Given the description of an element on the screen output the (x, y) to click on. 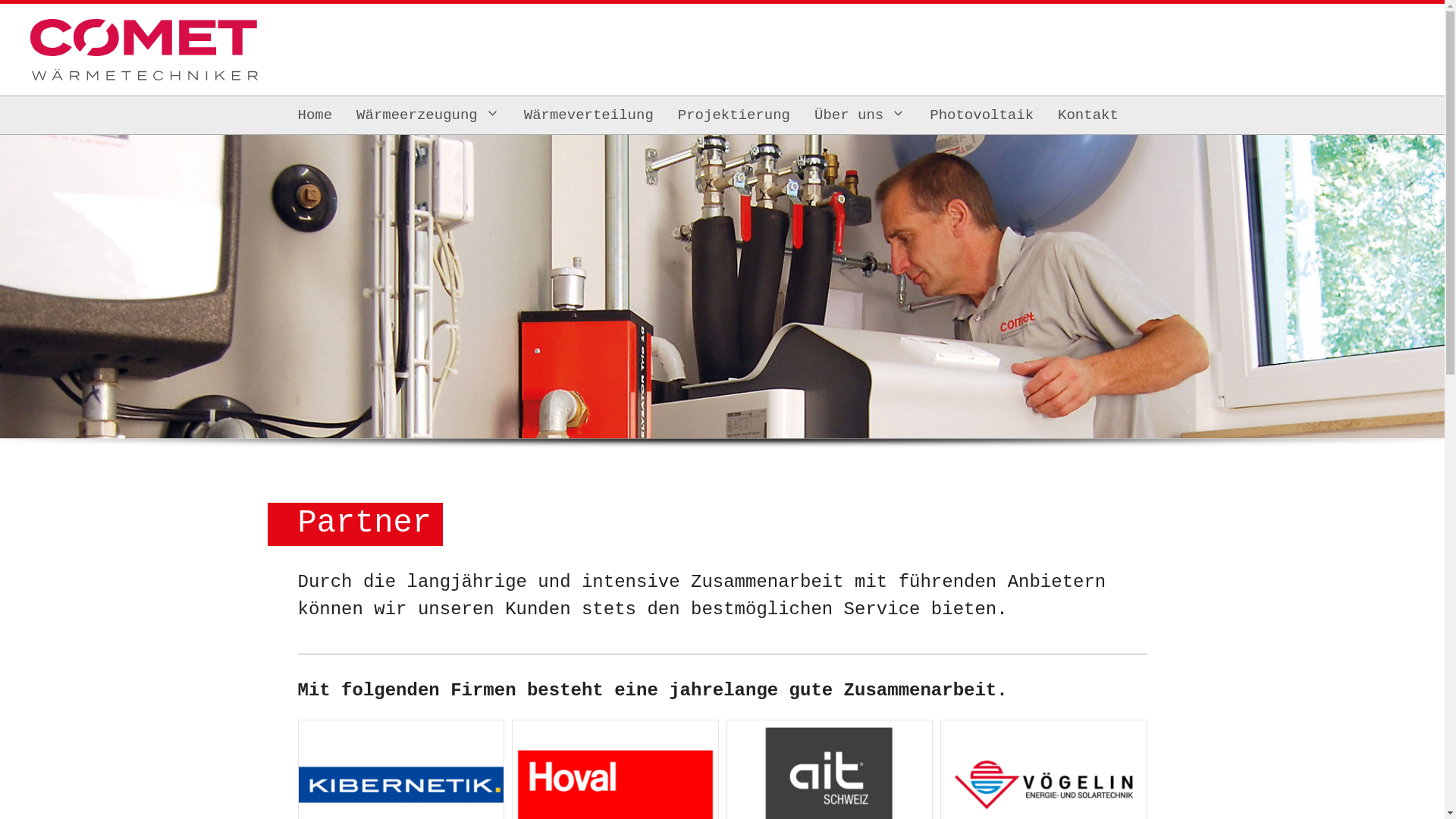
Home Element type: text (314, 115)
Projektierung Element type: text (733, 115)
Photovoltaik Element type: text (981, 115)
Kontakt Element type: text (1087, 115)
